Given the description of an element on the screen output the (x, y) to click on. 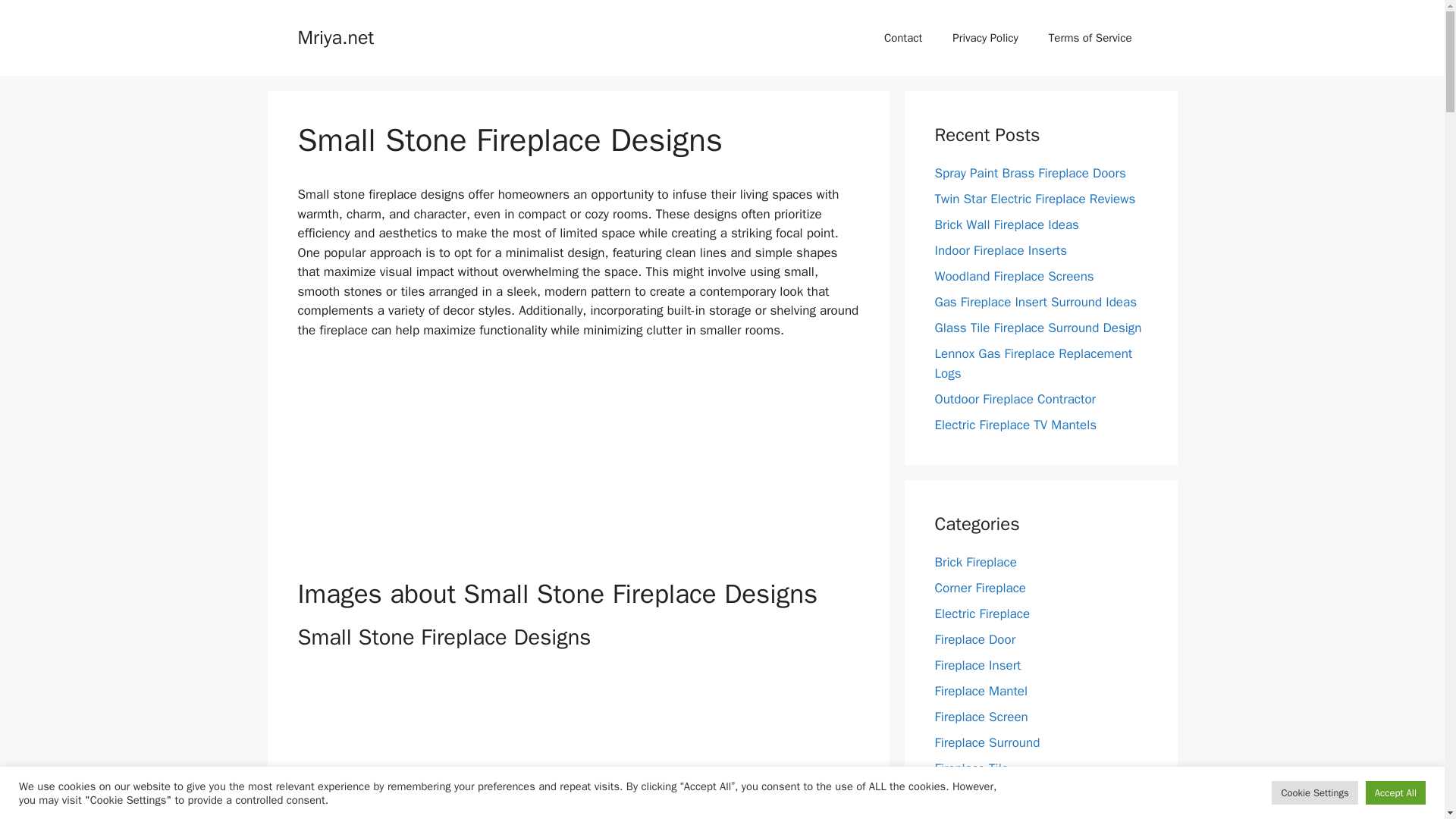
Terms of Service (1090, 37)
Glass Tile Fireplace Surround Design (1037, 327)
Gas Fireplace Insert Surround Ideas (1035, 302)
Advertisement (578, 744)
Indoor Fireplace Inserts (999, 250)
Outdoor Fireplace Contractor (1014, 399)
Fireplace Door (974, 639)
Corner Fireplace (980, 587)
Lennox Gas Fireplace Replacement Logs (1033, 363)
Woodland Fireplace Screens (1013, 276)
Gas Fireplace (972, 794)
Fireplace Insert (977, 665)
Brick Wall Fireplace Ideas (1006, 224)
Fireplace Screen (980, 716)
Brick Fireplace (975, 562)
